Given the description of an element on the screen output the (x, y) to click on. 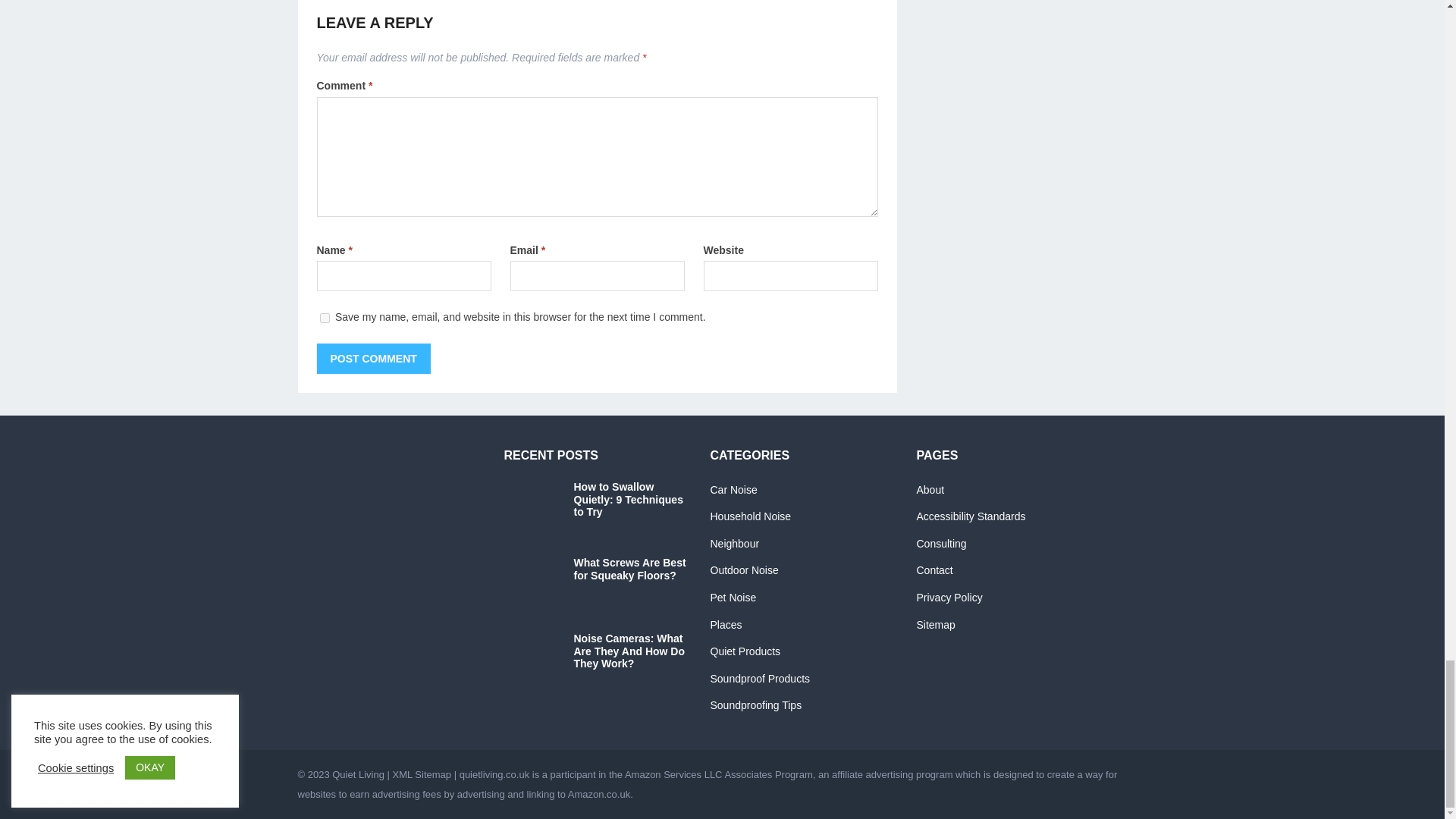
Post Comment (373, 358)
DMCA.com Protection Status (388, 555)
yes (325, 317)
